Given the description of an element on the screen output the (x, y) to click on. 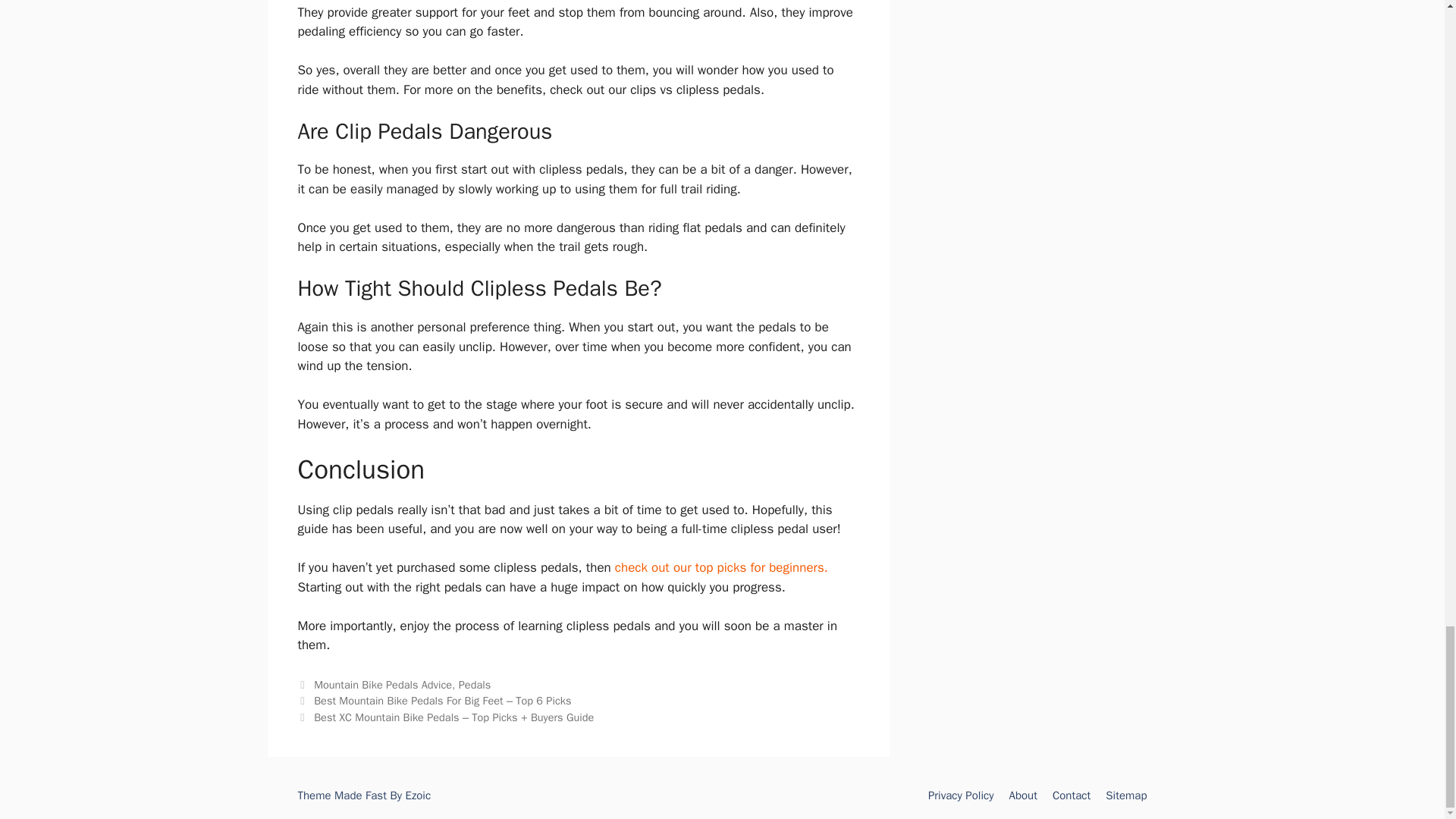
Best Clipless MTB Pedals For Beginners: What To Look For (721, 567)
Mountain Bike Pedals Advice (382, 684)
Pedals (474, 684)
check out our top picks for beginners. (721, 567)
